Given the description of an element on the screen output the (x, y) to click on. 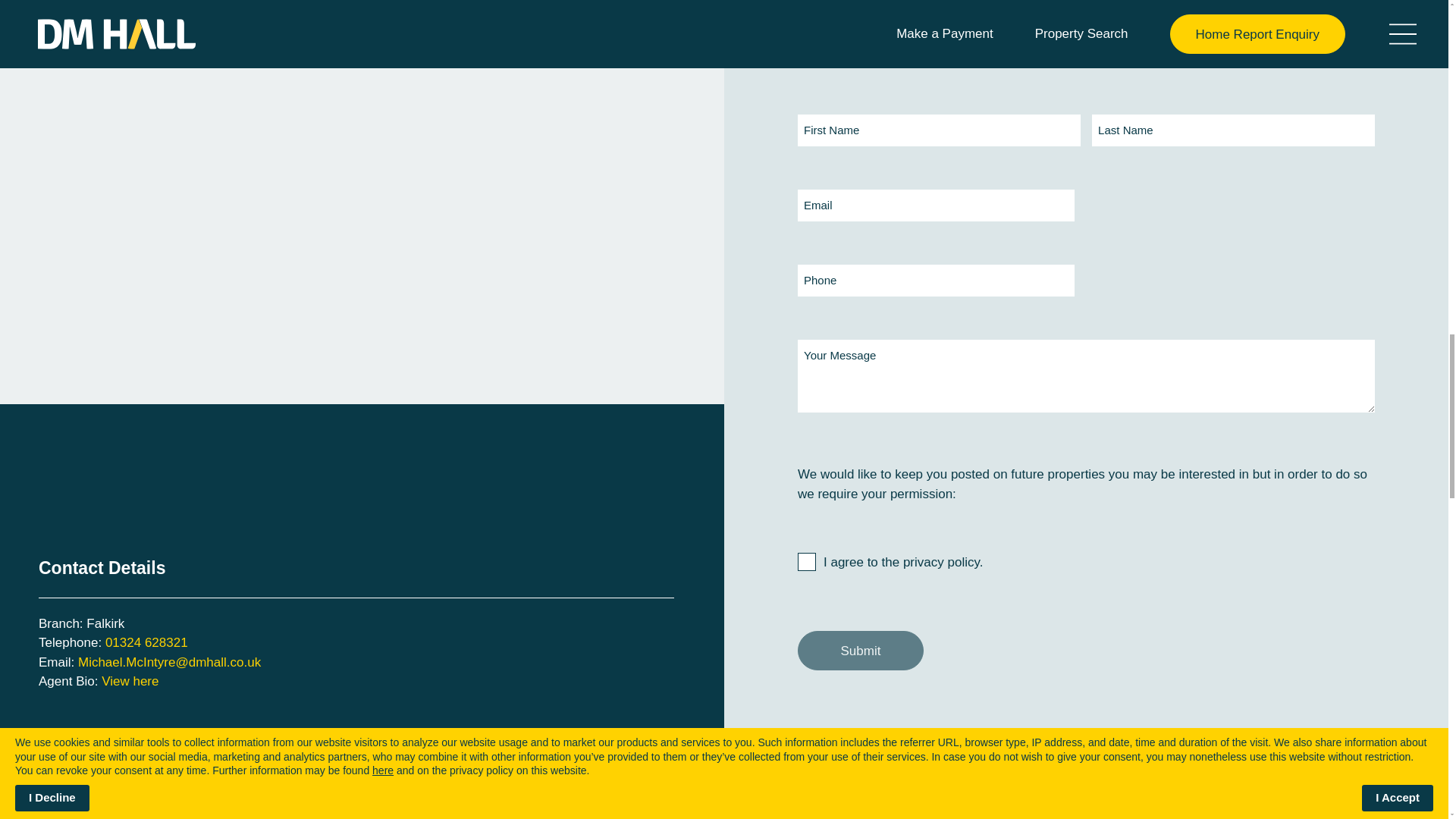
1 (806, 561)
